Given the description of an element on the screen output the (x, y) to click on. 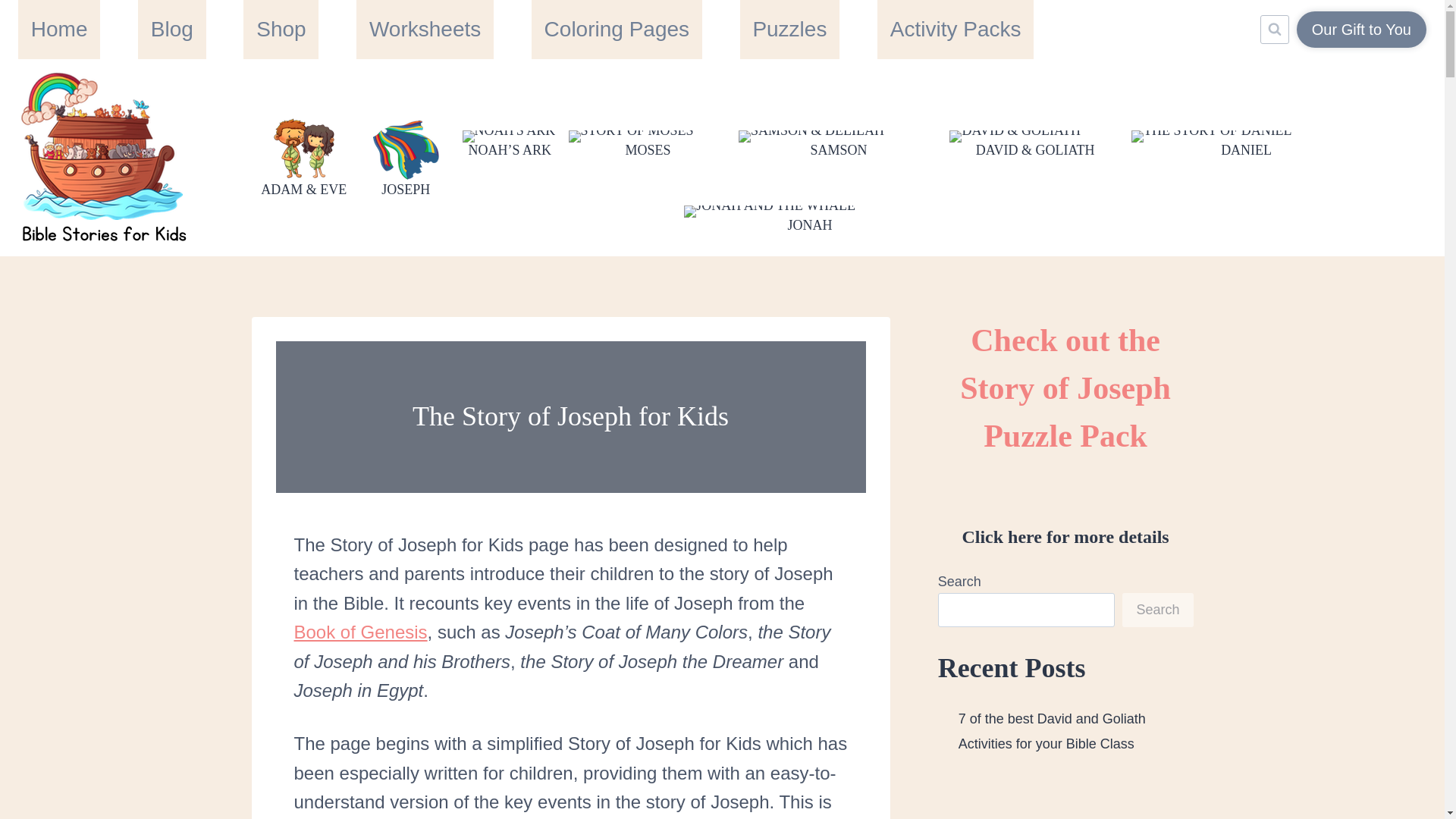
MOSES (647, 140)
Worksheets (424, 29)
Puzzles (789, 29)
Our Gift to You (1361, 29)
Book of Genesis (361, 631)
Activity Packs (955, 29)
Blog (172, 29)
Shop (280, 29)
JONAH (809, 215)
SAMSON (838, 140)
